Given the description of an element on the screen output the (x, y) to click on. 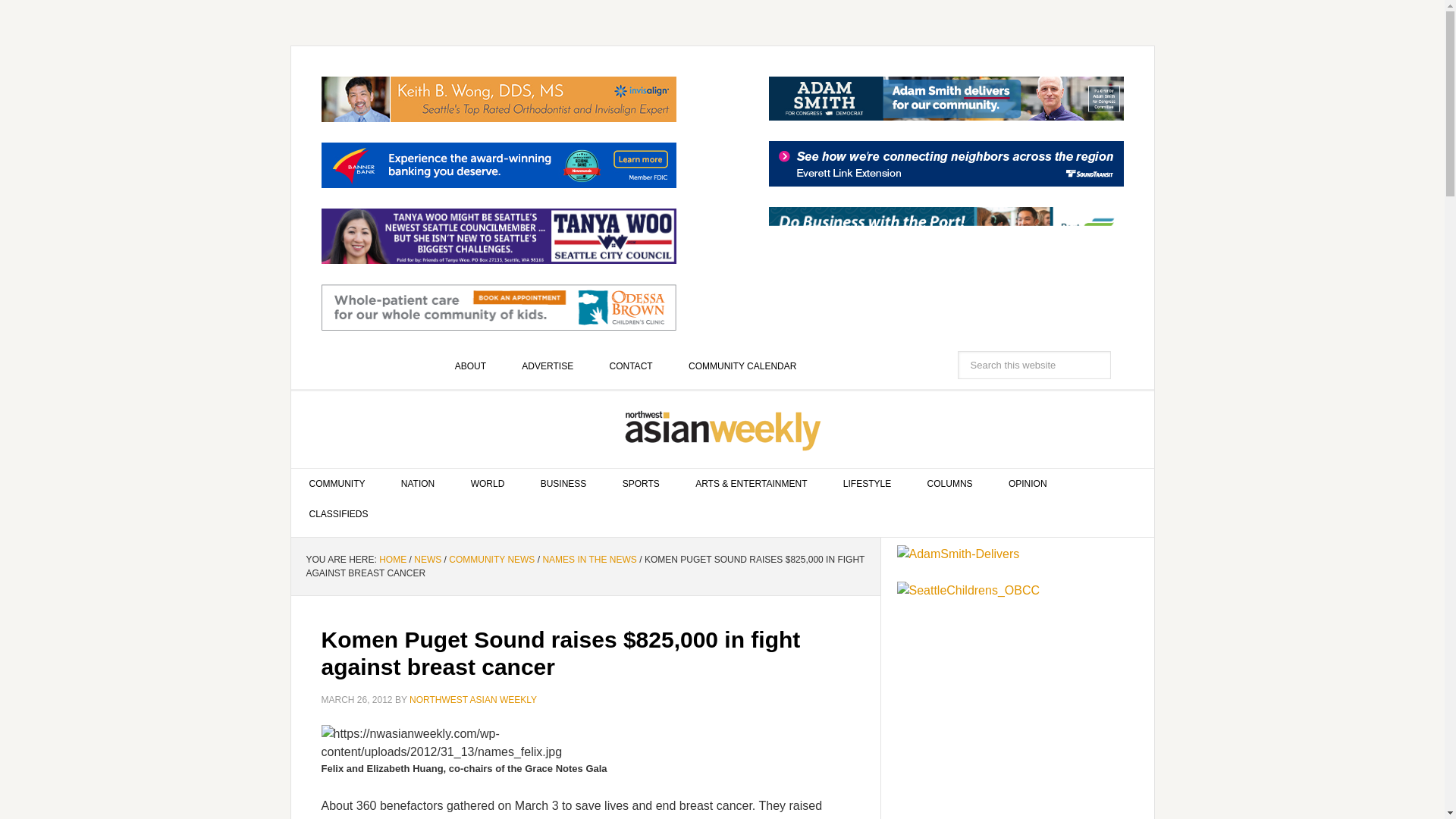
BUSINESS (563, 483)
LIFESTYLE (866, 483)
SPORTS (641, 483)
WORLD (487, 483)
COMMUNITY (337, 483)
COLUMNS (949, 483)
OPINION (1027, 483)
CONTACT (631, 366)
ADVERTISE (547, 366)
